Given the description of an element on the screen output the (x, y) to click on. 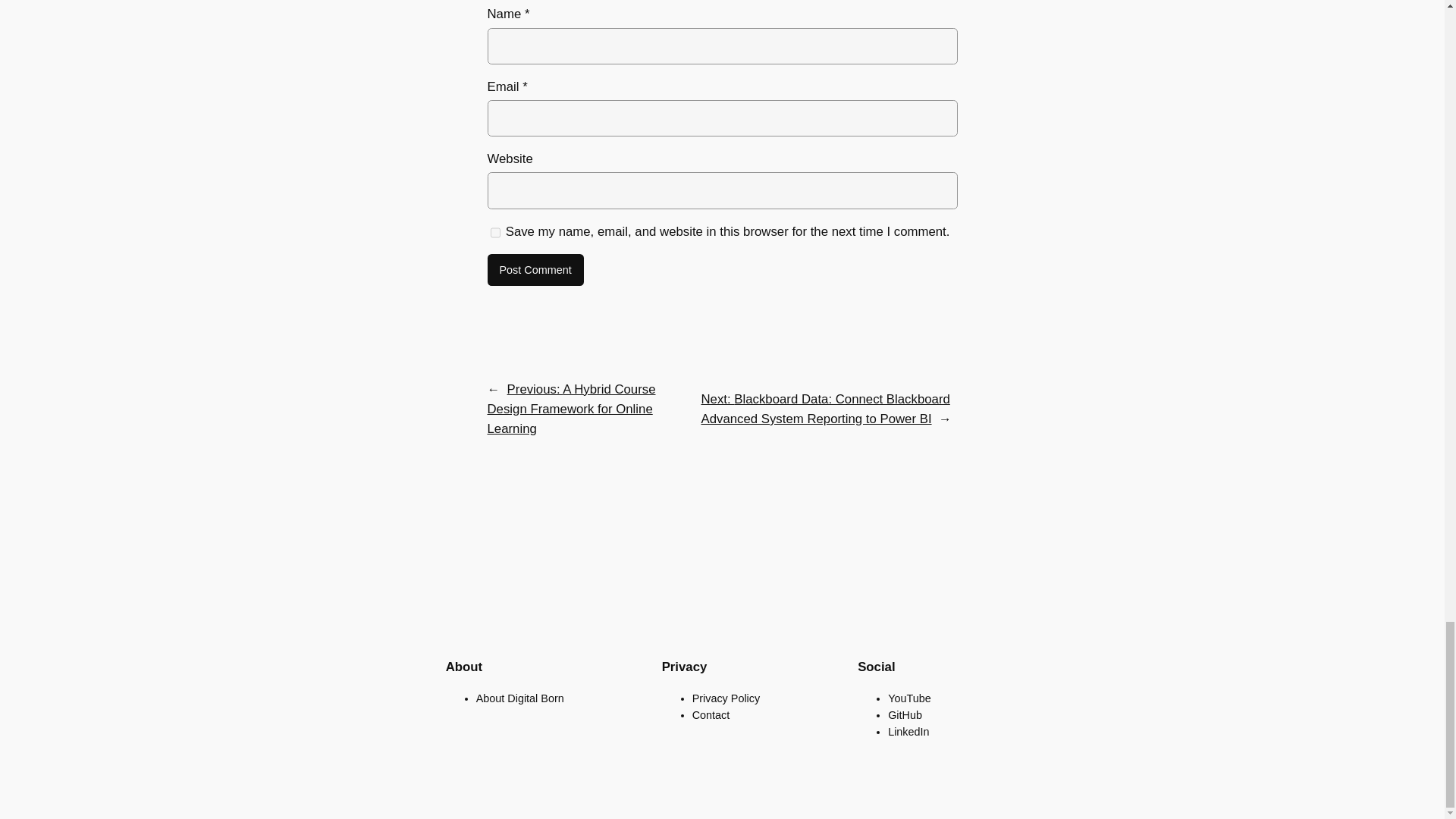
Privacy Policy (726, 697)
Post Comment (534, 269)
Contact (711, 715)
About Digital Born (520, 697)
Post Comment (534, 269)
YouTube (909, 697)
